Given the description of an element on the screen output the (x, y) to click on. 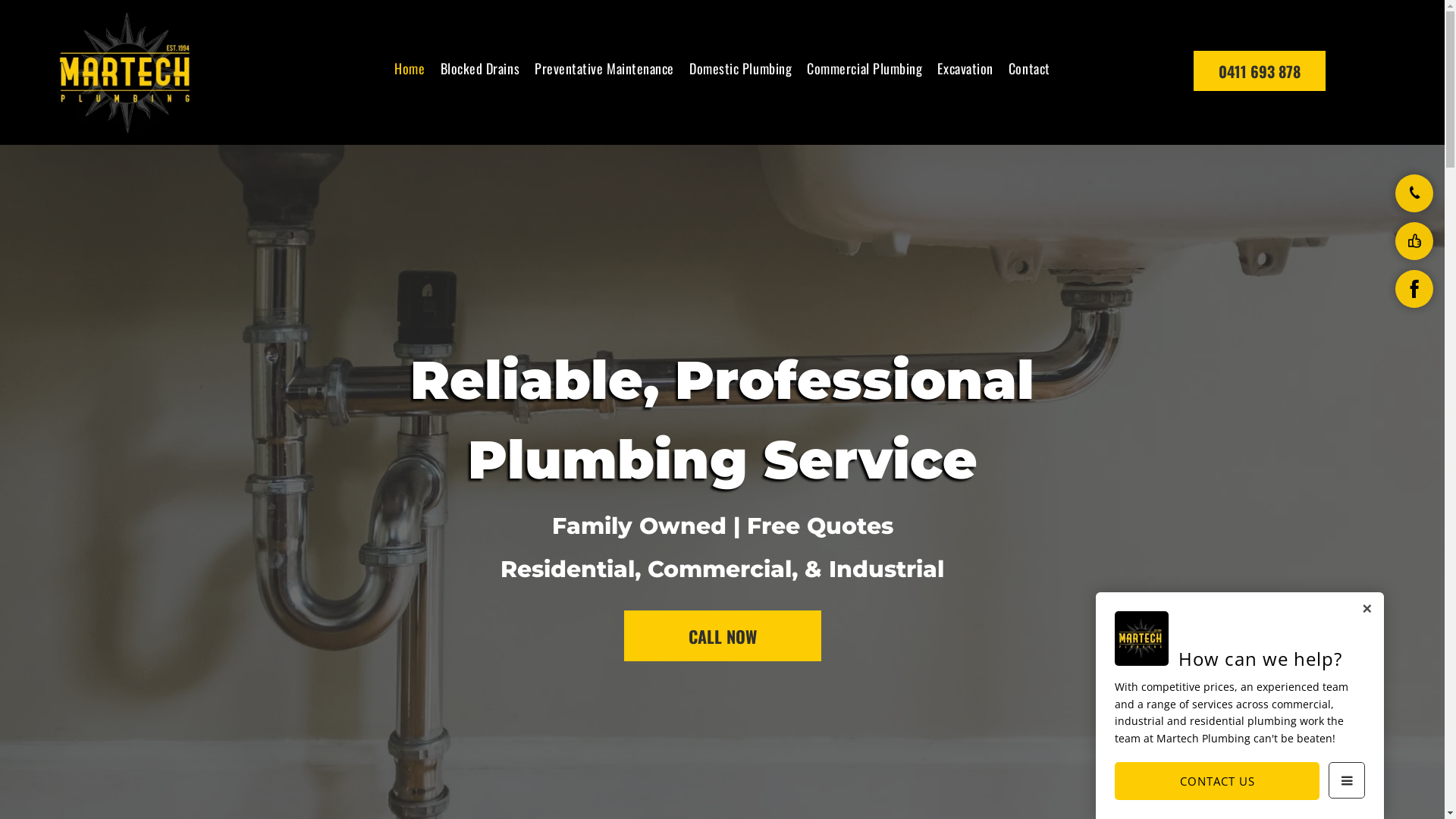
Blocked Drains Element type: text (479, 68)
Domestic Plumbing Element type: text (740, 68)
CONTACT US Element type: text (1216, 781)
Preventative Maintenance Element type: text (604, 68)
Martech Plumbing Element type: hover (124, 72)
CALL NOW Element type: text (721, 635)
Contact Element type: text (1029, 68)
Home Element type: text (409, 68)
Commercial Plumbing Element type: text (864, 68)
0411 693 878 Element type: text (1259, 70)
Excavation Element type: text (964, 68)
